Given the description of an element on the screen output the (x, y) to click on. 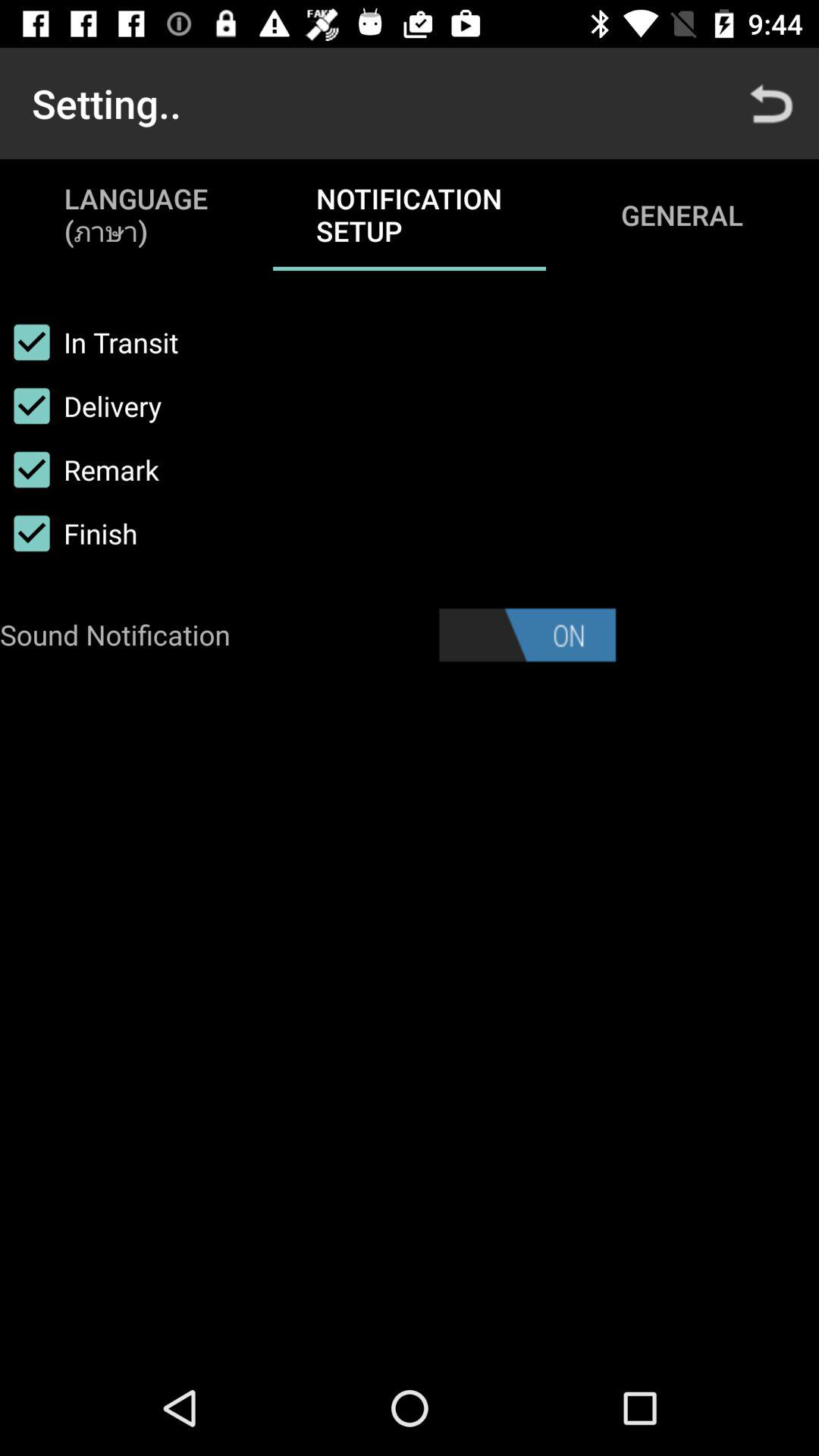
toggle sound notifications (527, 634)
